Given the description of an element on the screen output the (x, y) to click on. 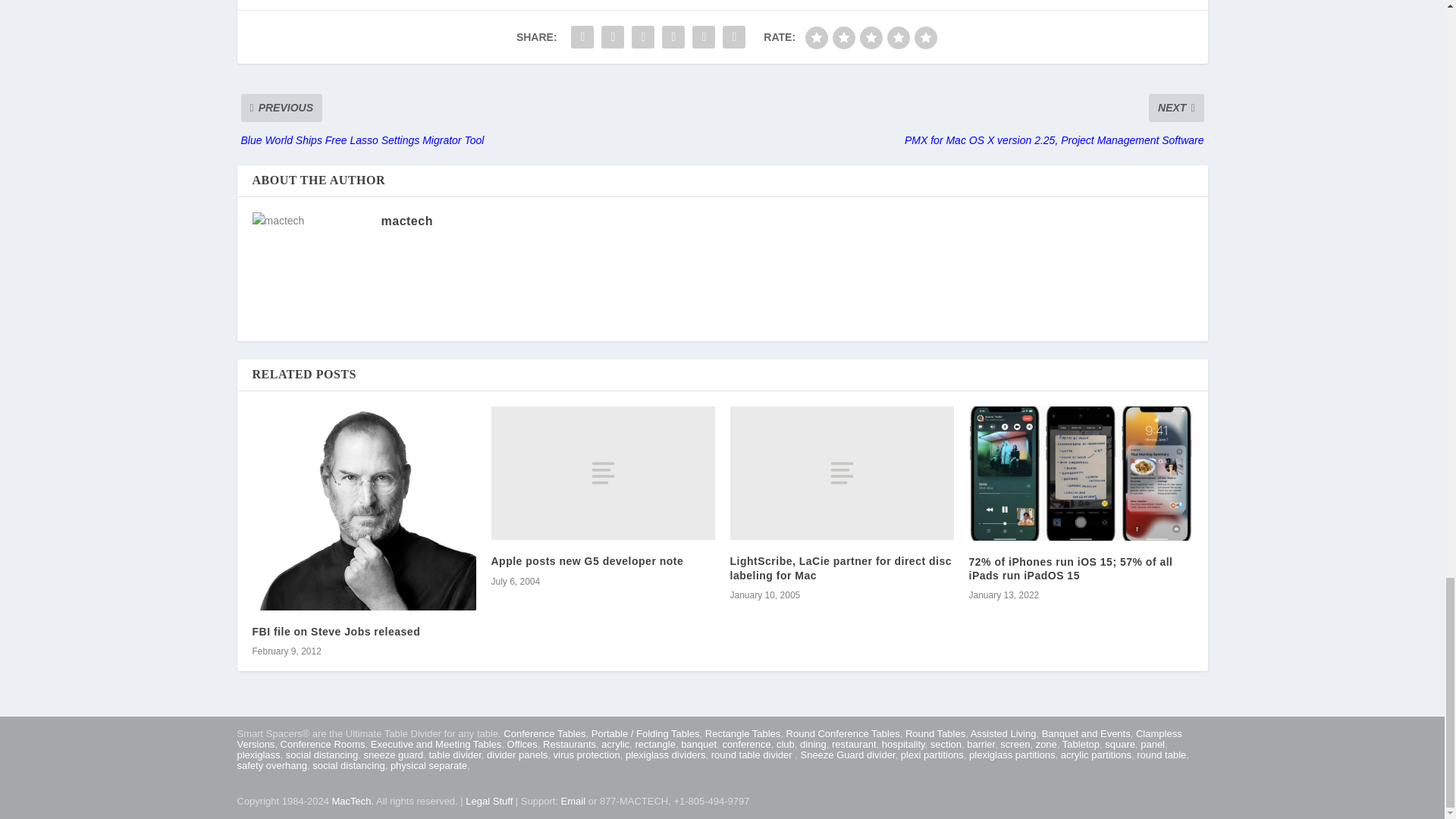
Share "CGIScripter 2.08 Enterprise Edition" via LinkedIn (673, 37)
Share "CGIScripter 2.08 Enterprise Edition" via Stumbleupon (703, 37)
Share "CGIScripter 2.08 Enterprise Edition" via Email (734, 37)
Share "CGIScripter 2.08 Enterprise Edition" via Twitter (611, 37)
Share "CGIScripter 2.08 Enterprise Edition" via Tumblr (642, 37)
Share "CGIScripter 2.08 Enterprise Edition" via Facebook (581, 37)
